Given the description of an element on the screen output the (x, y) to click on. 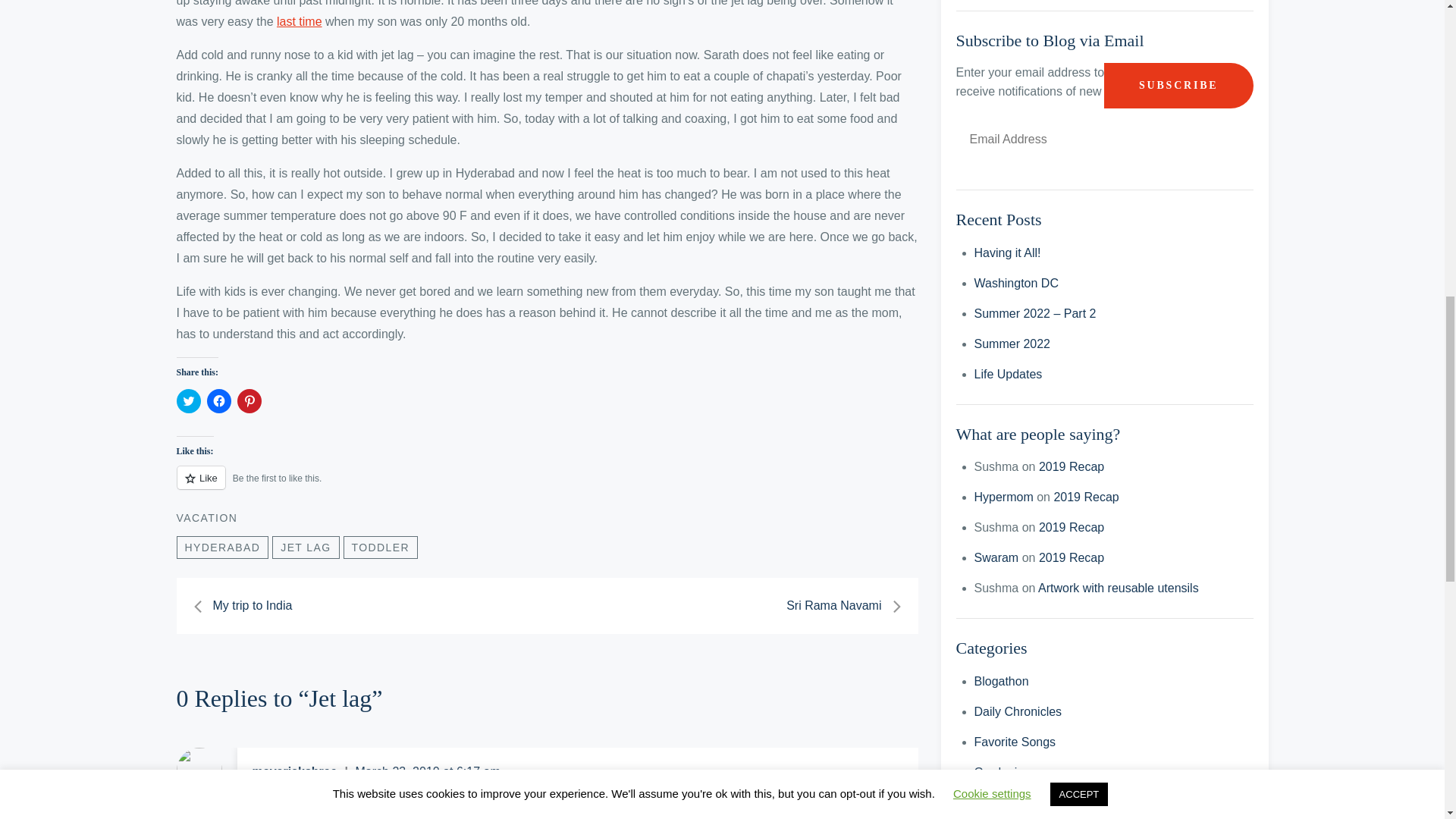
Click to share on Pinterest (247, 401)
Having it All! (1007, 252)
Like or Reblog (546, 486)
Life Updates (1008, 373)
VACATION (206, 517)
TODDLER (380, 547)
HYDERABAD (221, 547)
Click to share on Twitter (188, 401)
Washington DC (1016, 282)
Summer 2022 (1011, 343)
Click to share on Facebook (218, 401)
last time (298, 21)
JET LAG (305, 547)
SUBSCRIBE (1178, 85)
March 23, 2010 at 6:17 am (427, 771)
